Given the description of an element on the screen output the (x, y) to click on. 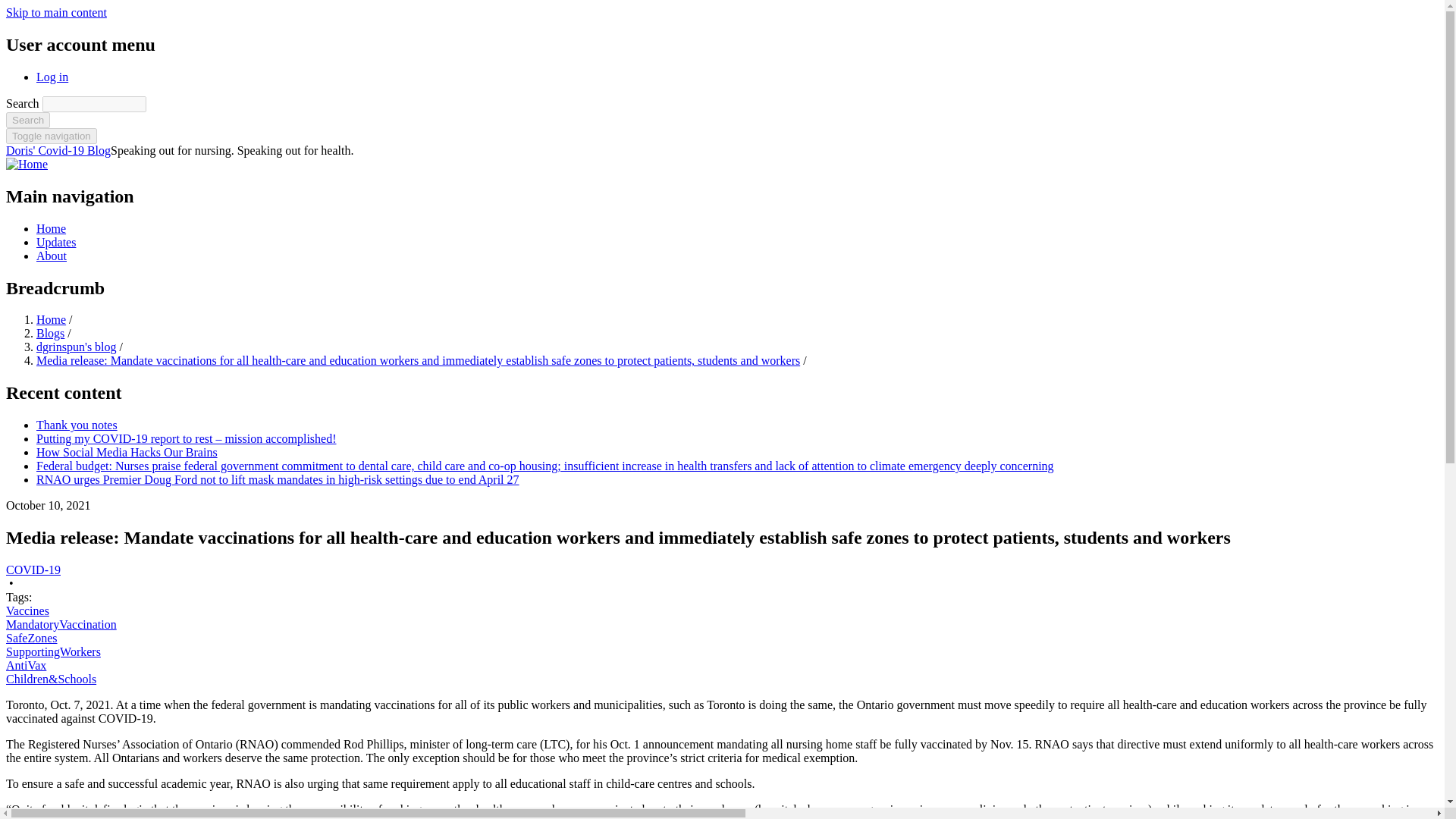
About (51, 255)
Home (57, 150)
SupportingWorkers (52, 651)
Log in (52, 76)
Vaccines (27, 610)
Updates (55, 241)
Thank you notes (76, 424)
Search (27, 119)
Blogs (50, 332)
Home (50, 318)
Enter the terms you wish to search for. (94, 104)
Search (27, 119)
AntiVax (25, 665)
Home (26, 164)
